Given the description of an element on the screen output the (x, y) to click on. 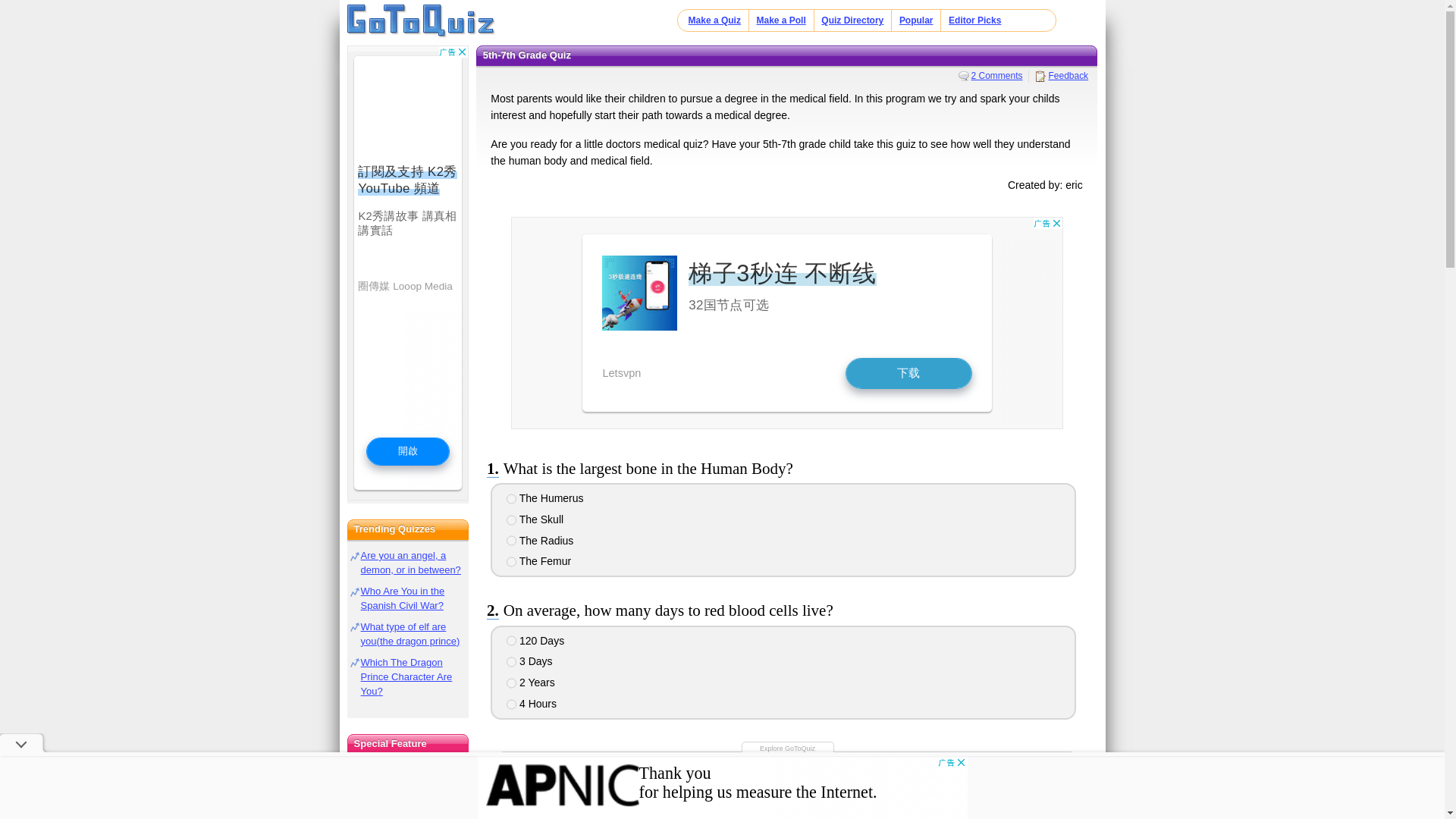
2 Comments (990, 75)
Advertisement (786, 323)
Career Quizzes (999, 789)
QUIZ (551, 777)
Try our lifespan calculator (407, 792)
1 (511, 498)
4 (511, 561)
2 (511, 520)
Advertisement (722, 787)
Editor Picks (975, 20)
2 (511, 661)
Home (940, 796)
Home (421, 20)
Feedback (1061, 75)
1 (511, 640)
